Given the description of an element on the screen output the (x, y) to click on. 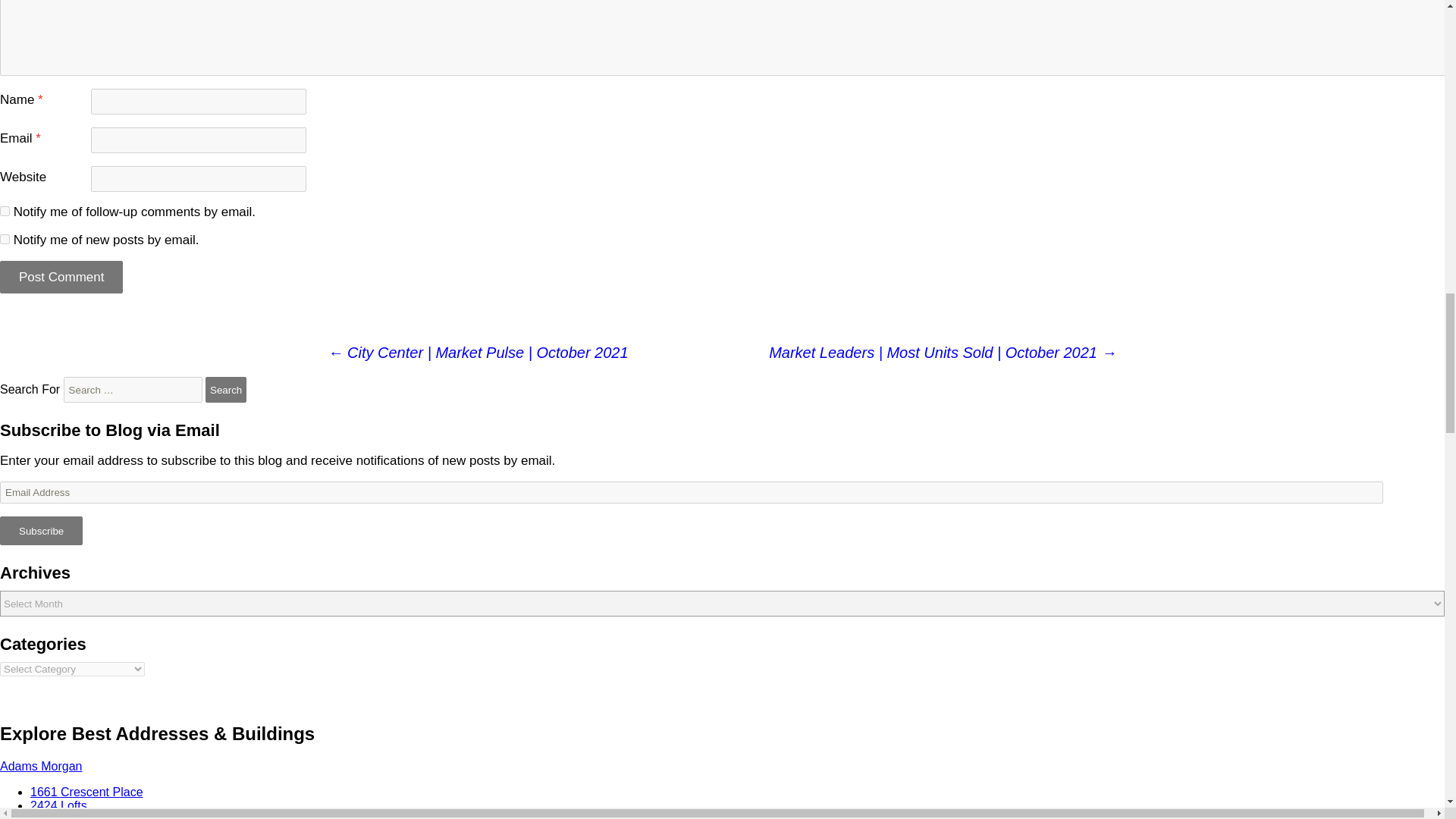
Post Comment (61, 277)
Search for: (133, 389)
Search (225, 389)
Search (225, 389)
subscribe (5, 239)
subscribe (5, 211)
